Given the description of an element on the screen output the (x, y) to click on. 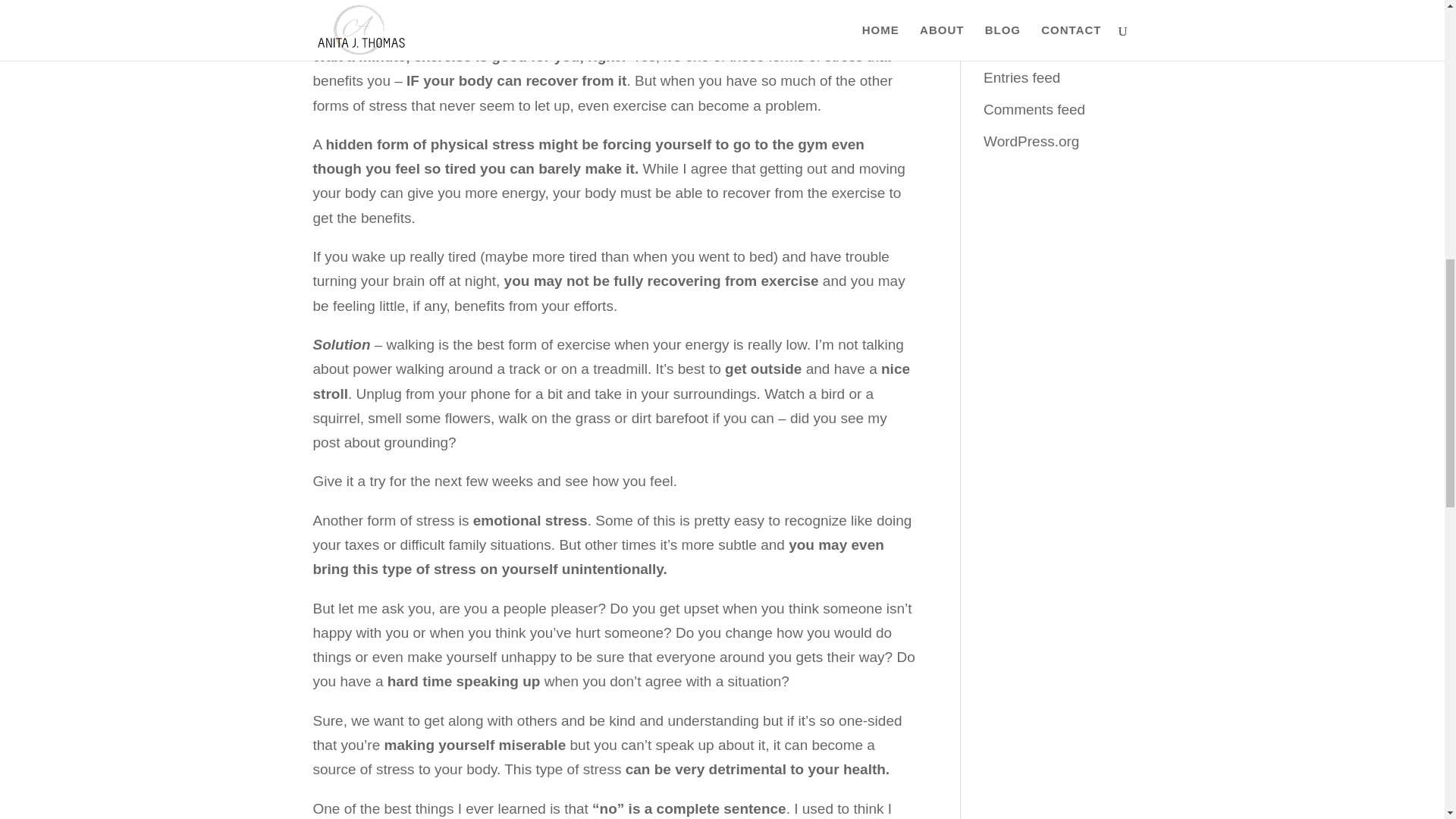
Comments feed (1034, 109)
Log in (1003, 45)
WordPress.org (1031, 141)
Entries feed (1021, 77)
